Given the description of an element on the screen output the (x, y) to click on. 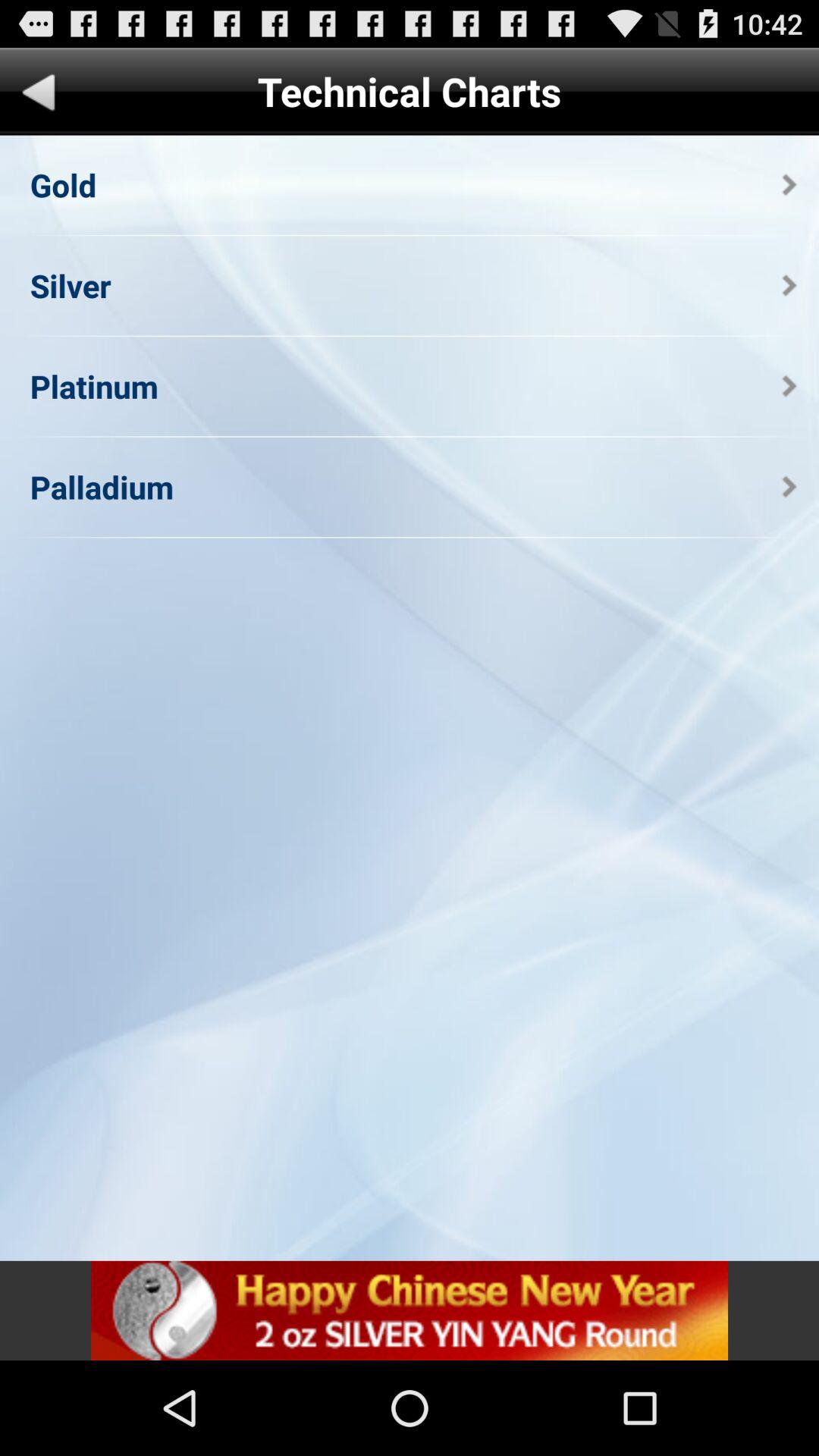
advertisement banner (409, 1310)
